Given the description of an element on the screen output the (x, y) to click on. 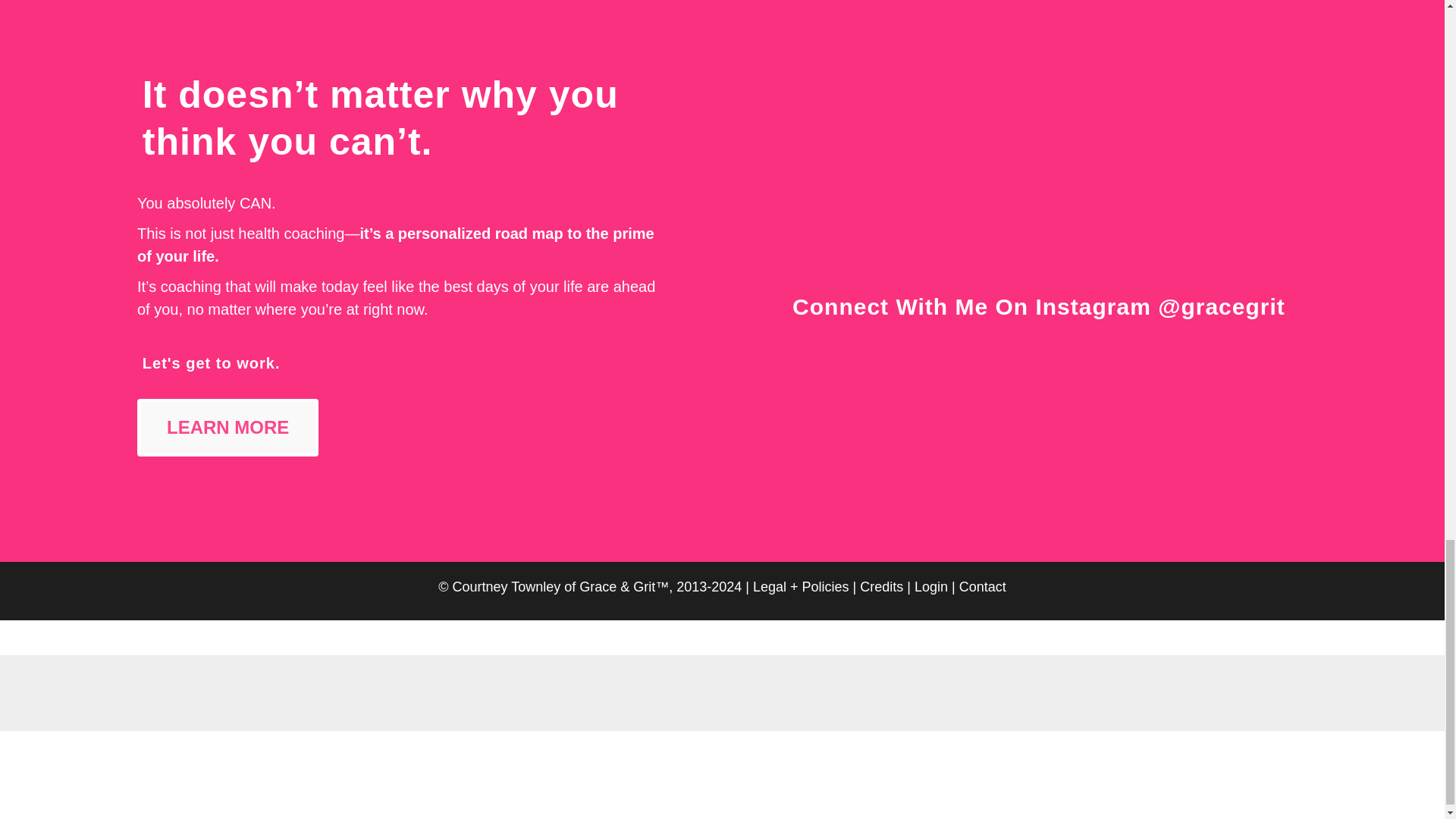
Let's get to work. (211, 362)
